Given the description of an element on the screen output the (x, y) to click on. 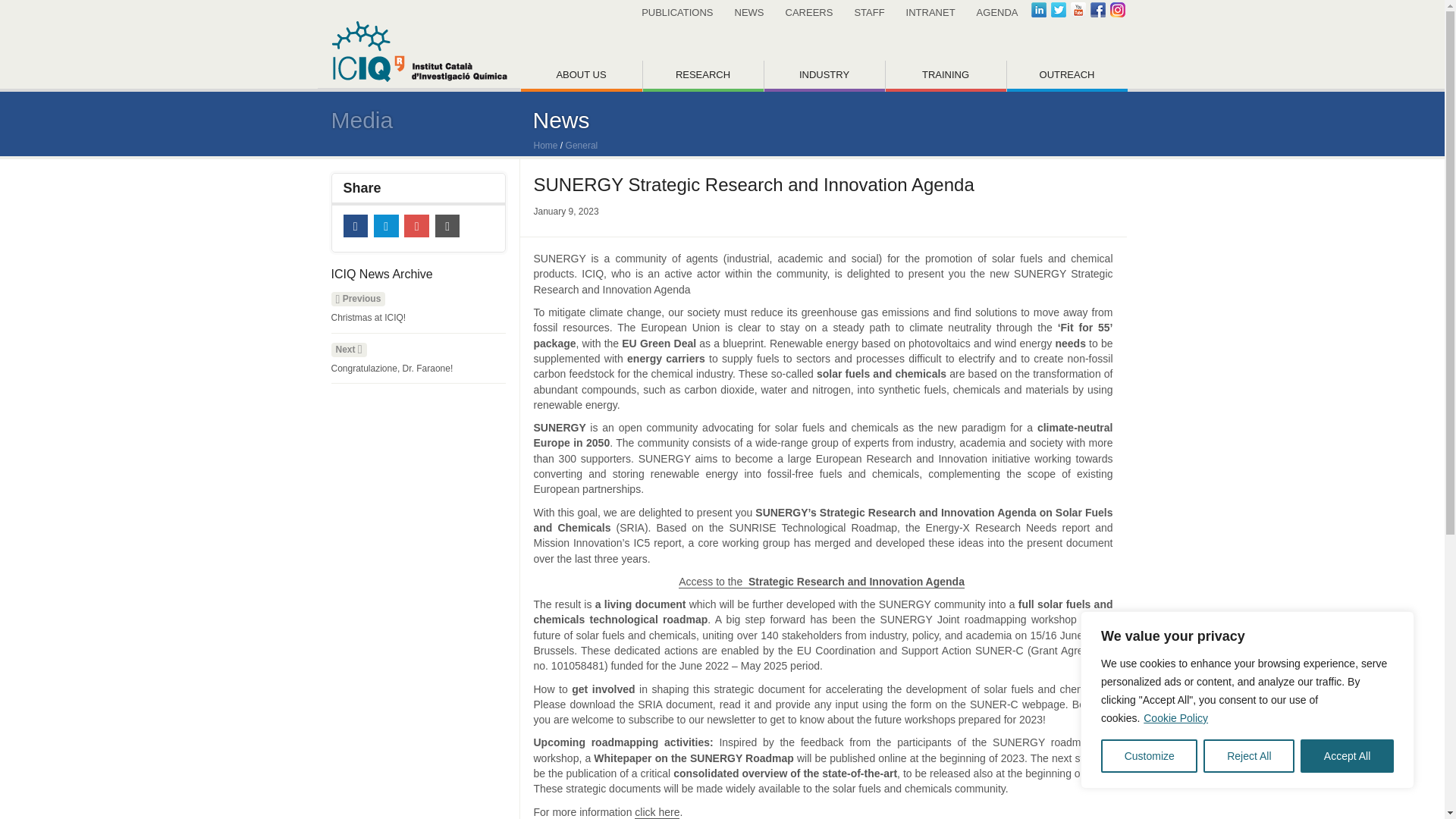
AGENDA (997, 12)
Reject All (1249, 756)
General (582, 145)
CAREERS (809, 12)
Access to the   (713, 581)
Customize (1148, 756)
Home (545, 145)
TRAINING (945, 75)
ICIQ (418, 45)
